Given the description of an element on the screen output the (x, y) to click on. 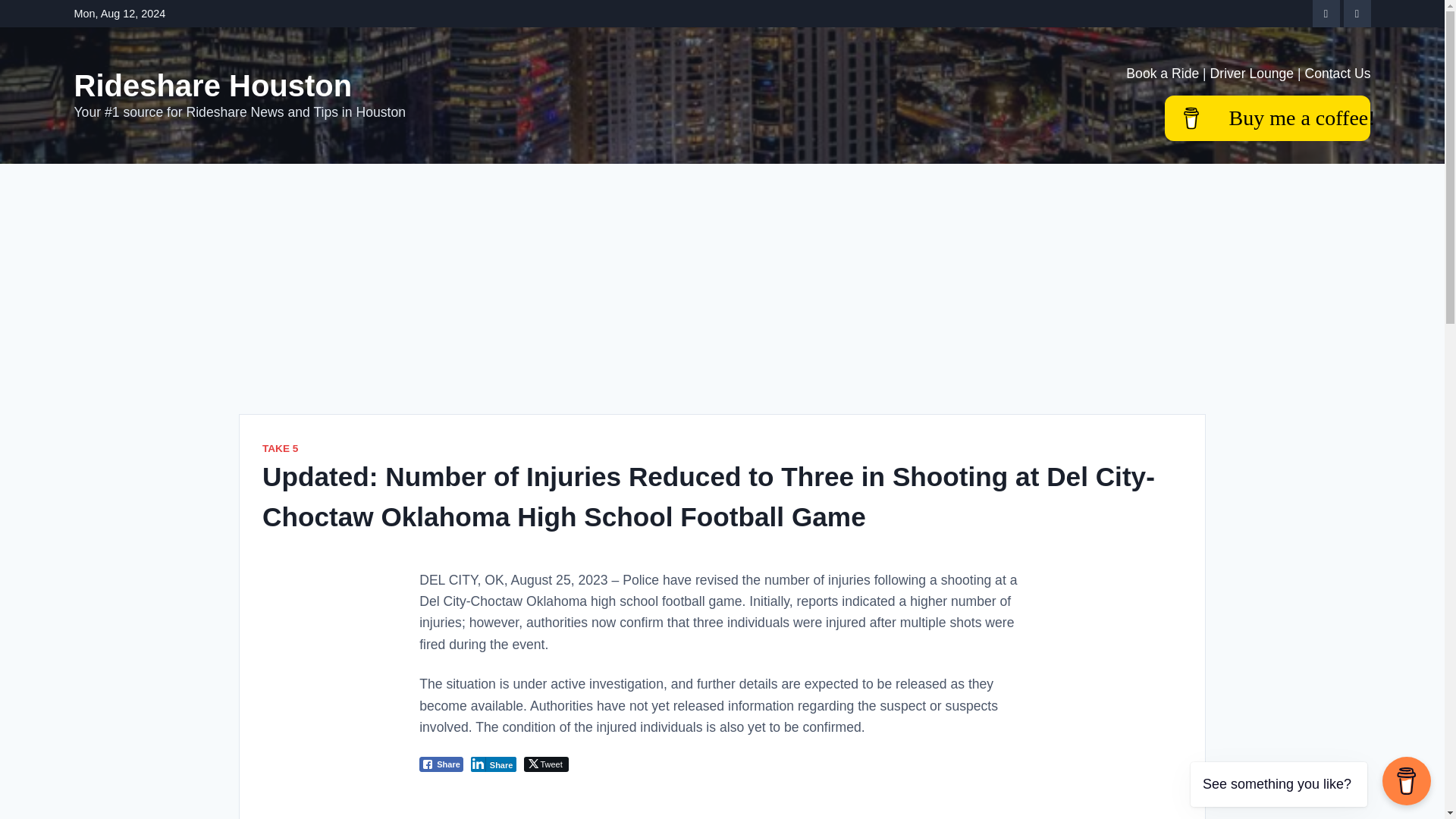
Book a Ride (1161, 73)
TAKE 5 (280, 448)
Share (441, 764)
Rideshare Houston (213, 85)
Tweet (545, 764)
Search (43, 18)
Share (493, 764)
Driver Lounge (1251, 73)
Contact Us (1337, 73)
